Given the description of an element on the screen output the (x, y) to click on. 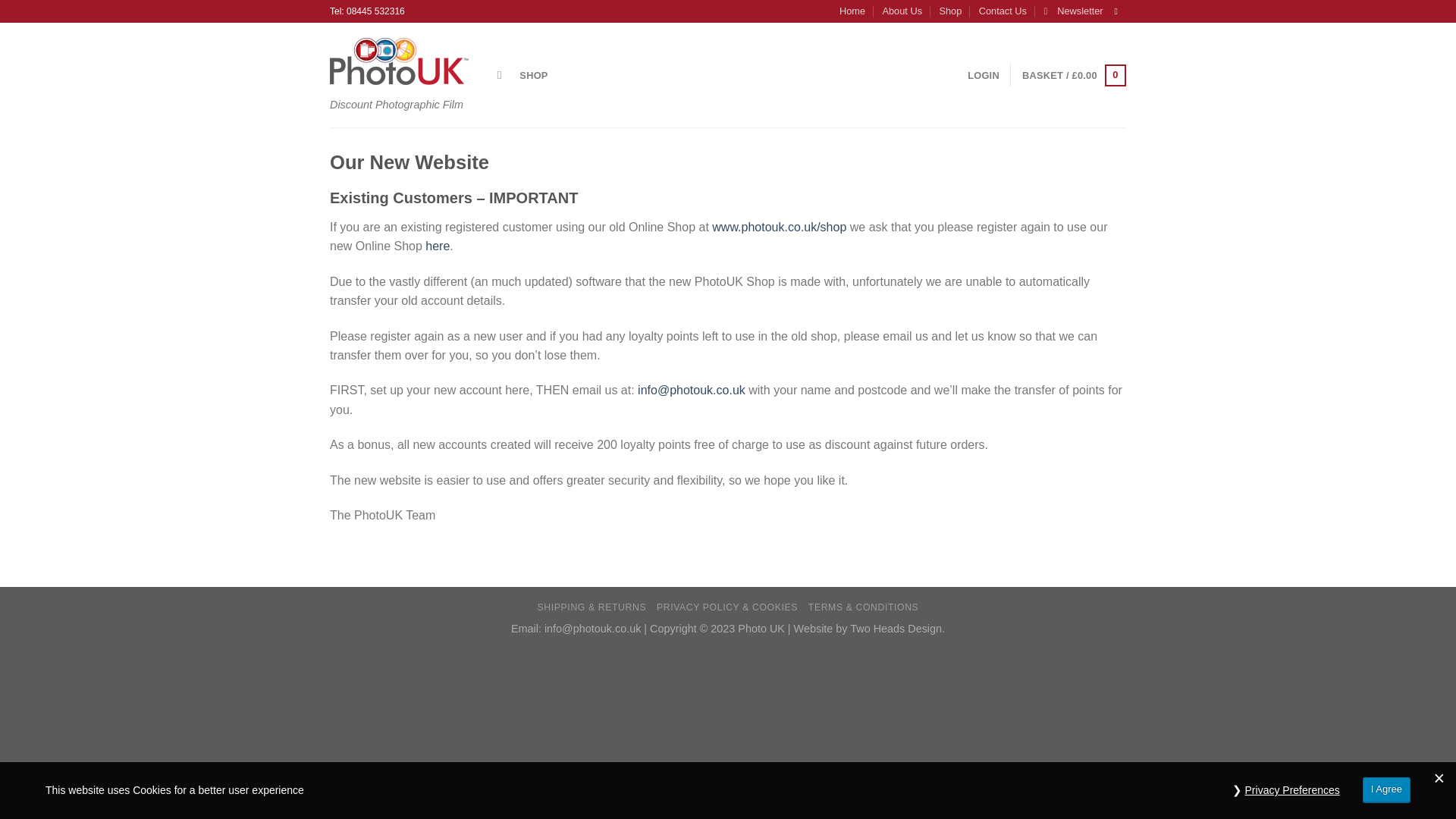
here (437, 245)
Login (983, 75)
Photo UK - Discount Photographic Film (402, 60)
Home (852, 11)
About Us (901, 11)
Contact Us (1002, 11)
SHOP (533, 75)
LOGIN (983, 75)
Two Heads Design (896, 628)
Basket (1073, 75)
Newsletter (1072, 11)
Shop (949, 11)
